Given the description of an element on the screen output the (x, y) to click on. 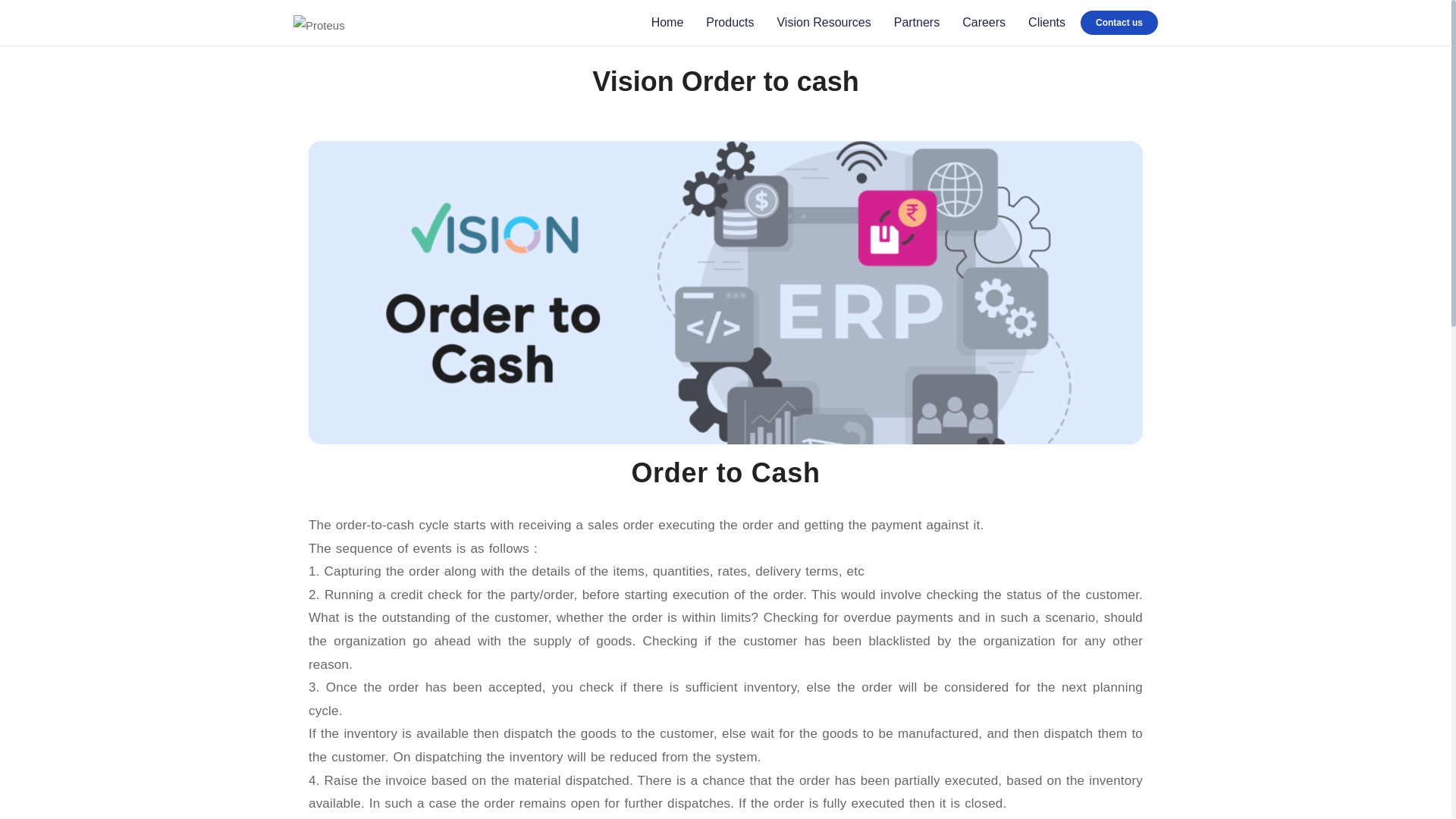
Careers (984, 22)
Products (730, 22)
Partners (916, 22)
Clients (1046, 22)
Vision Resources (823, 22)
Home (667, 22)
